Given the description of an element on the screen output the (x, y) to click on. 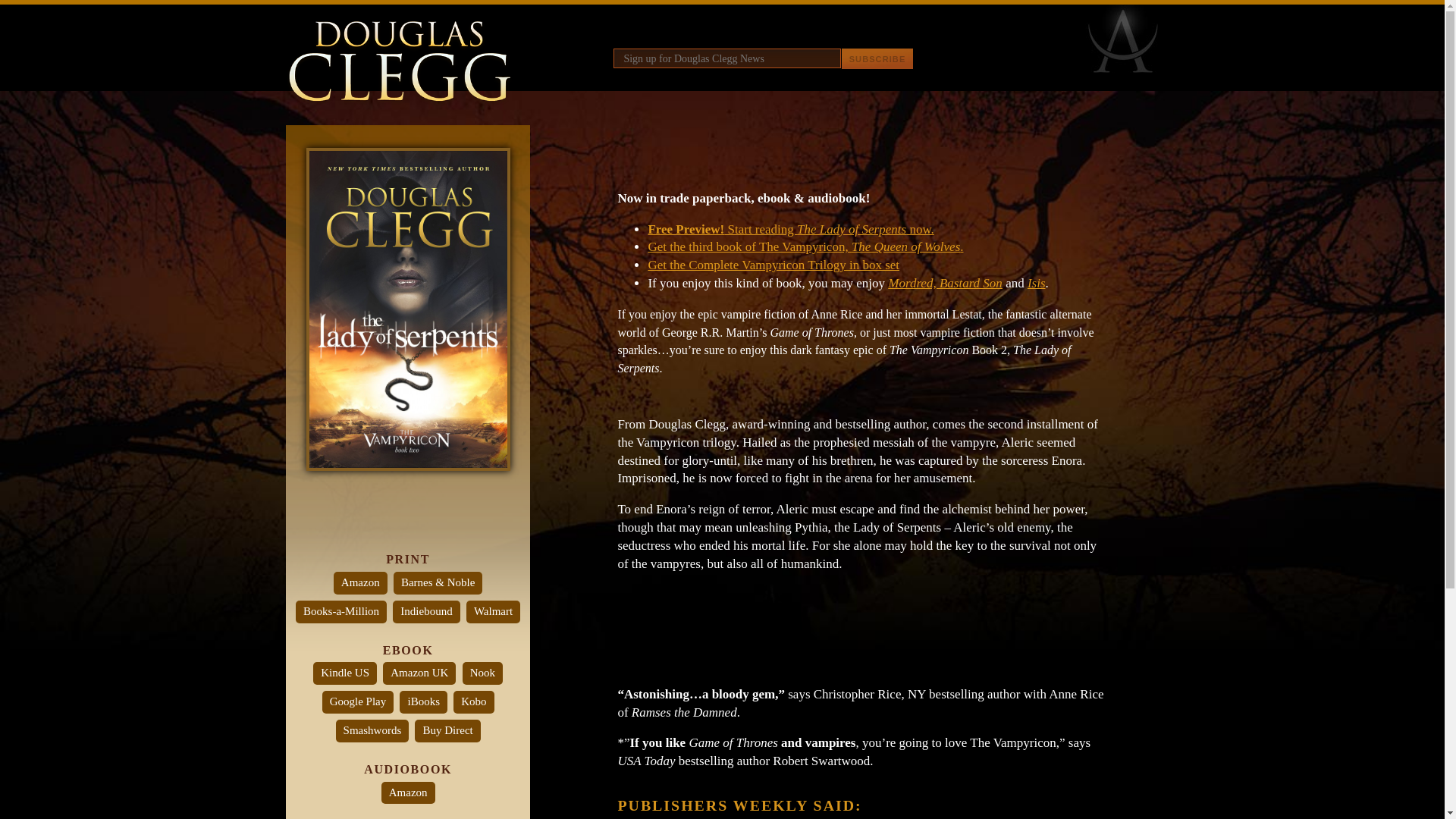
Amazon UK (418, 672)
Indiebound (426, 611)
Smashwords (372, 730)
Google Play (357, 702)
Amazon (408, 793)
Isis (1036, 283)
iBooks (422, 702)
Get the Complete Vampyricon Trilogy in box set (773, 264)
Kindle US (345, 672)
Subscribe (877, 58)
Subscribe (877, 58)
Walmart (492, 611)
Kobo (472, 702)
Mordred, Bastard Son (945, 283)
Nook (482, 672)
